Given the description of an element on the screen output the (x, y) to click on. 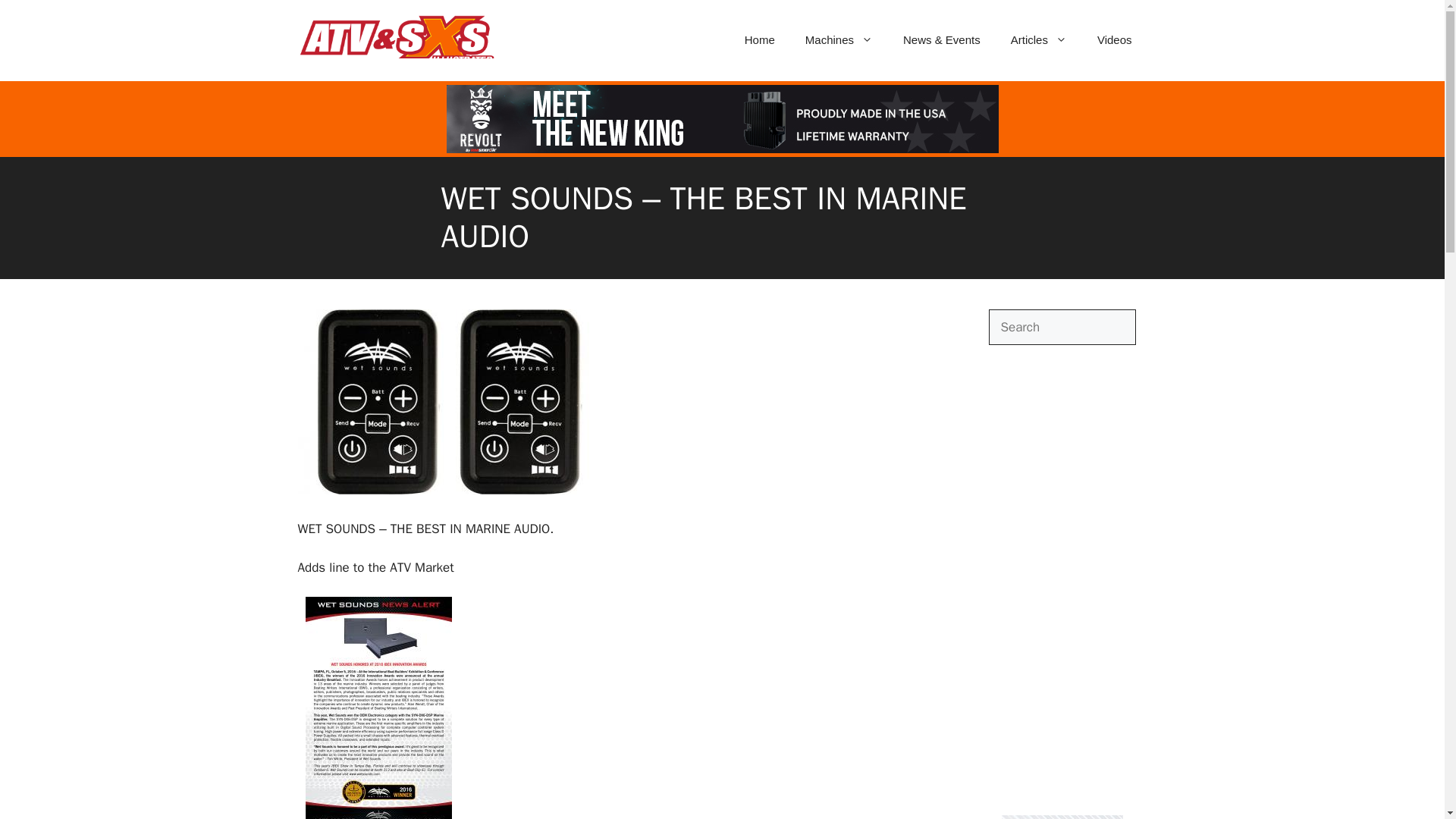
Articles (1038, 40)
Home (759, 40)
Machines (839, 40)
Videos (1114, 40)
